Given the description of an element on the screen output the (x, y) to click on. 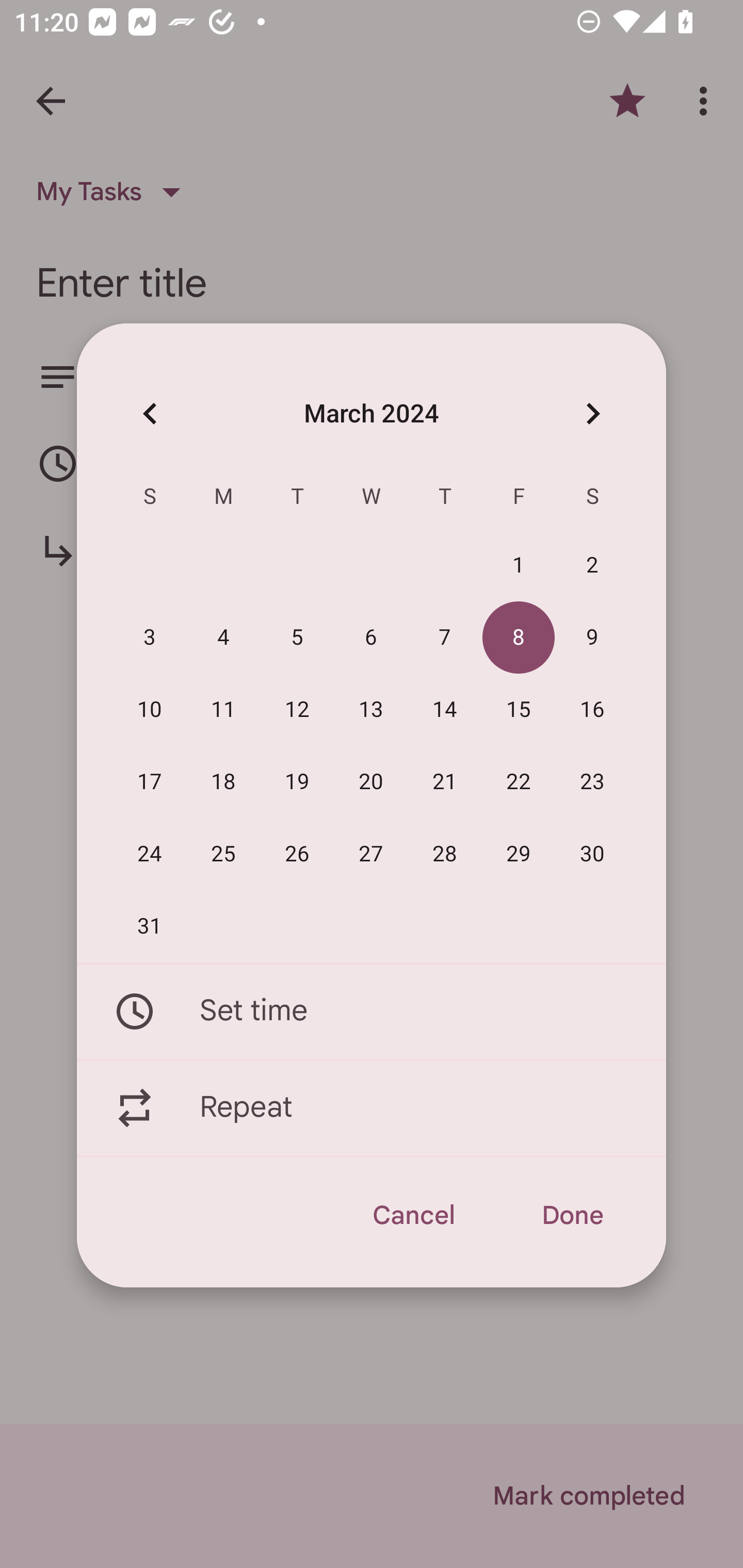
Previous month (149, 413)
Next month (592, 413)
1 01 March 2024 (518, 565)
2 02 March 2024 (592, 565)
3 03 March 2024 (149, 638)
4 04 March 2024 (223, 638)
5 05 March 2024 (297, 638)
6 06 March 2024 (370, 638)
7 07 March 2024 (444, 638)
8 08 March 2024 (518, 638)
9 09 March 2024 (592, 638)
10 10 March 2024 (149, 710)
11 11 March 2024 (223, 710)
12 12 March 2024 (297, 710)
13 13 March 2024 (370, 710)
14 14 March 2024 (444, 710)
15 15 March 2024 (518, 710)
16 16 March 2024 (592, 710)
17 17 March 2024 (149, 782)
18 18 March 2024 (223, 782)
19 19 March 2024 (297, 782)
20 20 March 2024 (370, 782)
21 21 March 2024 (444, 782)
22 22 March 2024 (518, 782)
23 23 March 2024 (592, 782)
24 24 March 2024 (149, 854)
25 25 March 2024 (223, 854)
26 26 March 2024 (297, 854)
27 27 March 2024 (370, 854)
28 28 March 2024 (444, 854)
29 29 March 2024 (518, 854)
30 30 March 2024 (592, 854)
31 31 March 2024 (149, 926)
Set time (371, 1011)
Repeat (371, 1108)
Cancel (412, 1215)
Done (571, 1215)
